Given the description of an element on the screen output the (x, y) to click on. 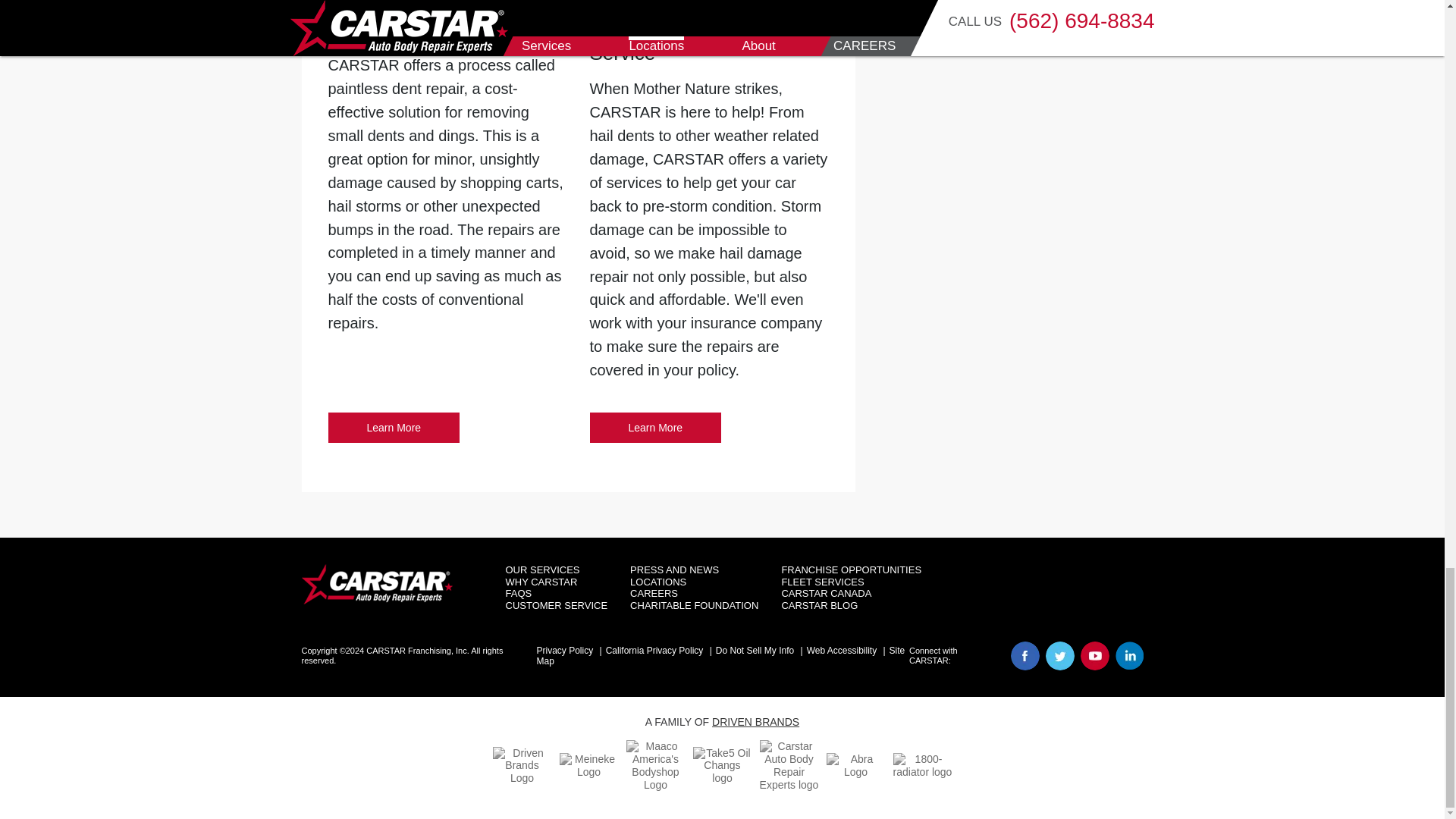
OUR SERVICES (655, 427)
